Given the description of an element on the screen output the (x, y) to click on. 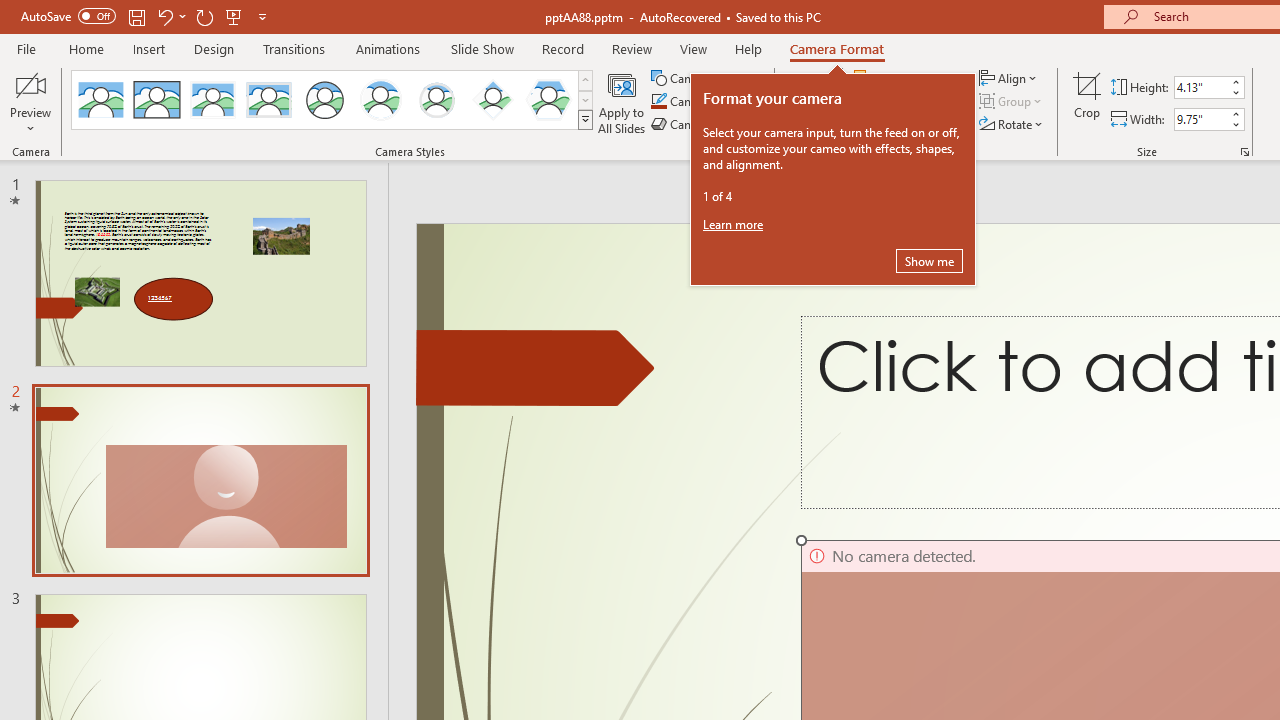
Cameo Width (1201, 119)
Alt Text (808, 102)
Camera Border (706, 101)
Align (1009, 78)
Center Shadow Rectangle (212, 100)
Enable Camera Preview (30, 84)
Send Backward (913, 101)
Camera Styles (585, 120)
